Given the description of an element on the screen output the (x, y) to click on. 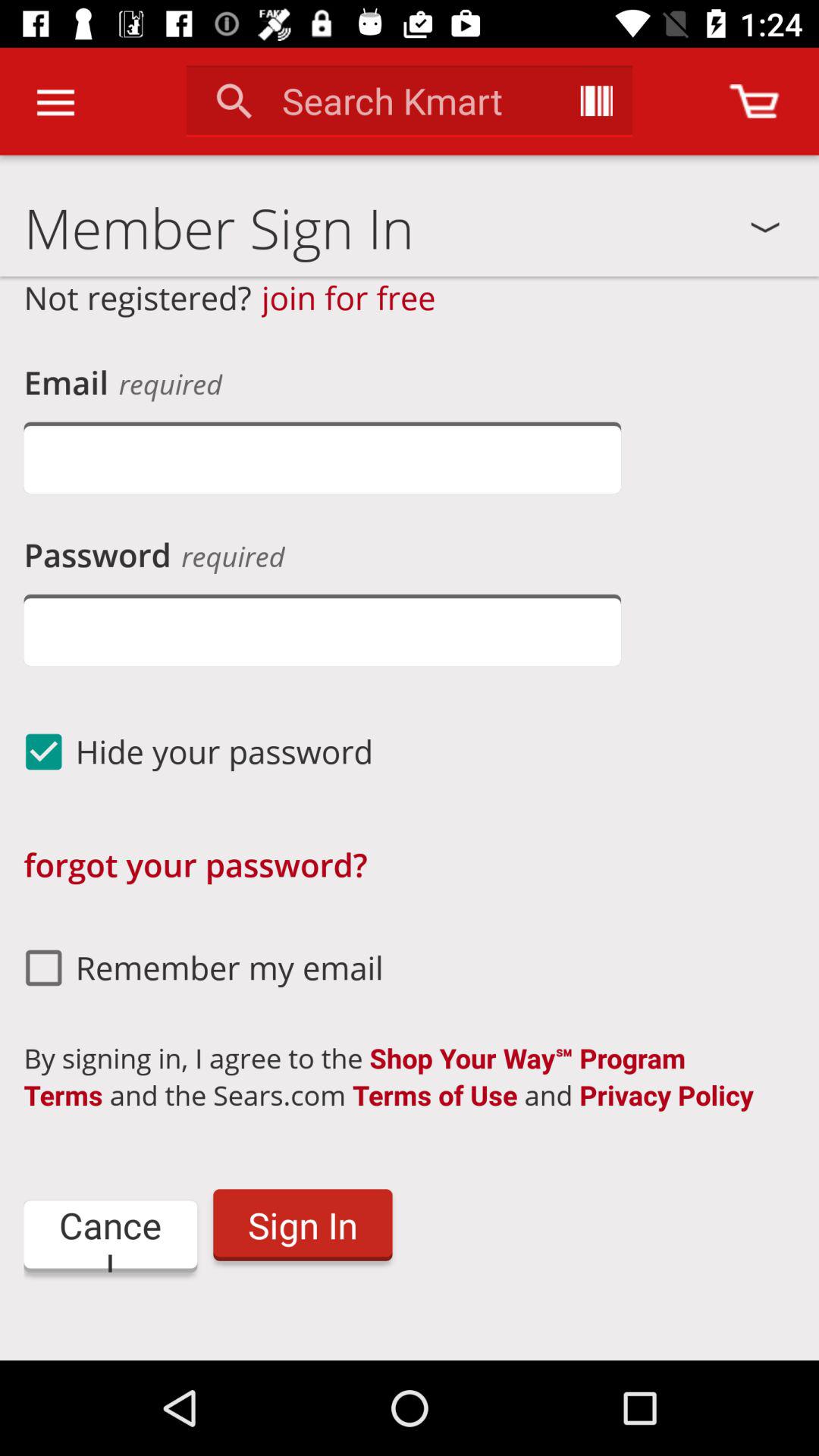
open item at the bottom left corner (110, 1236)
